Given the description of an element on the screen output the (x, y) to click on. 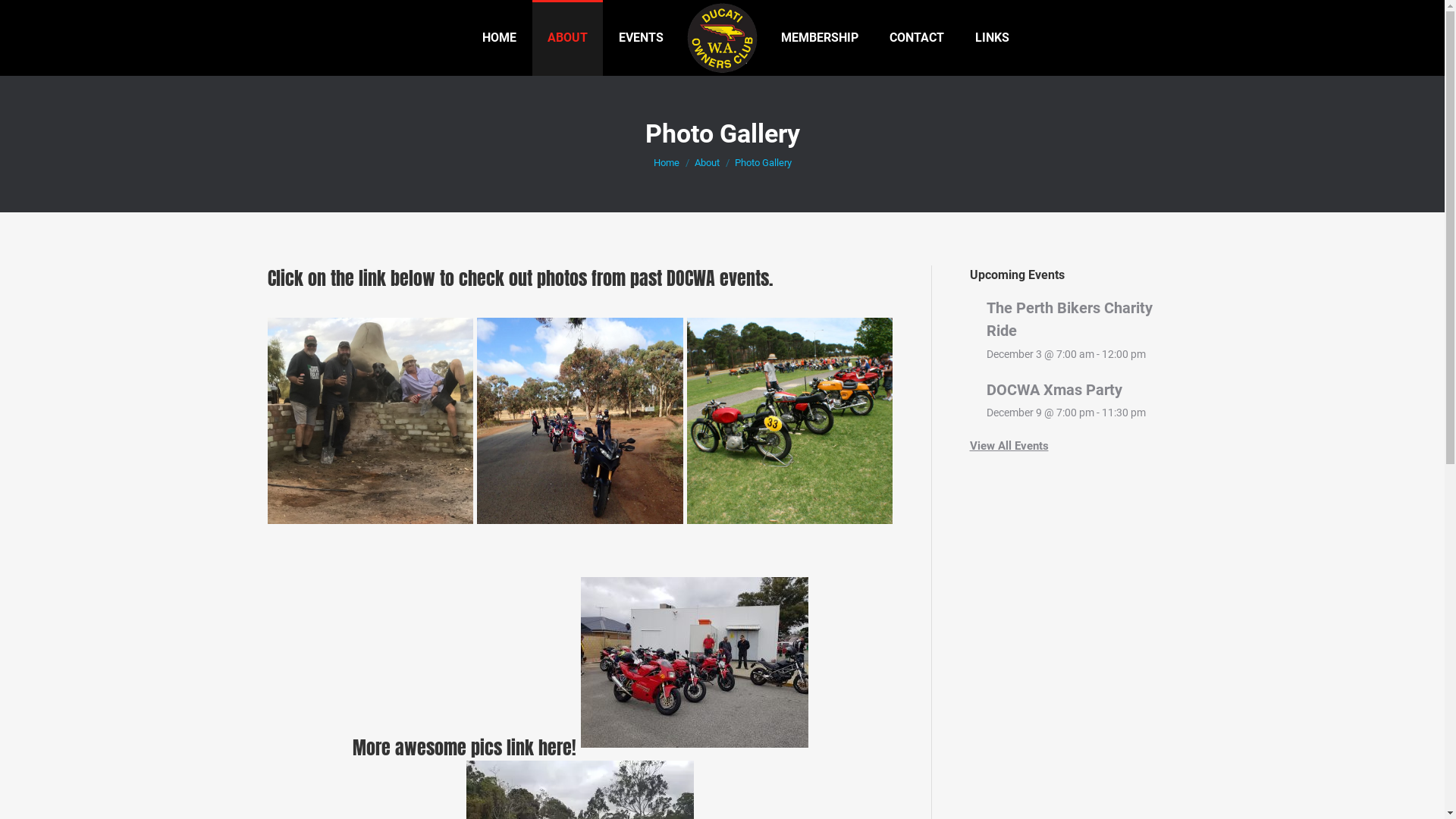
MEMBERSHIP Element type: text (819, 37)
View All Events Element type: text (1008, 445)
EVENTS Element type: text (640, 37)
57284552_1362620897210277_6198186777962872832_n Element type: hover (579, 420)
HOME Element type: text (499, 37)
About Element type: text (706, 162)
Home Element type: text (666, 162)
The Perth Bikers Charity Ride Element type: text (1069, 318)
59301258_10218909713517553_1742013858807021568_n Element type: hover (369, 420)
CONTACT Element type: text (916, 37)
DOCWA Xmas Party Element type: text (1054, 389)
Italiana Ovest 2010 046 Element type: hover (790, 420)
LINKS Element type: text (992, 37)
ABOUT Element type: text (567, 37)
